Given the description of an element on the screen output the (x, y) to click on. 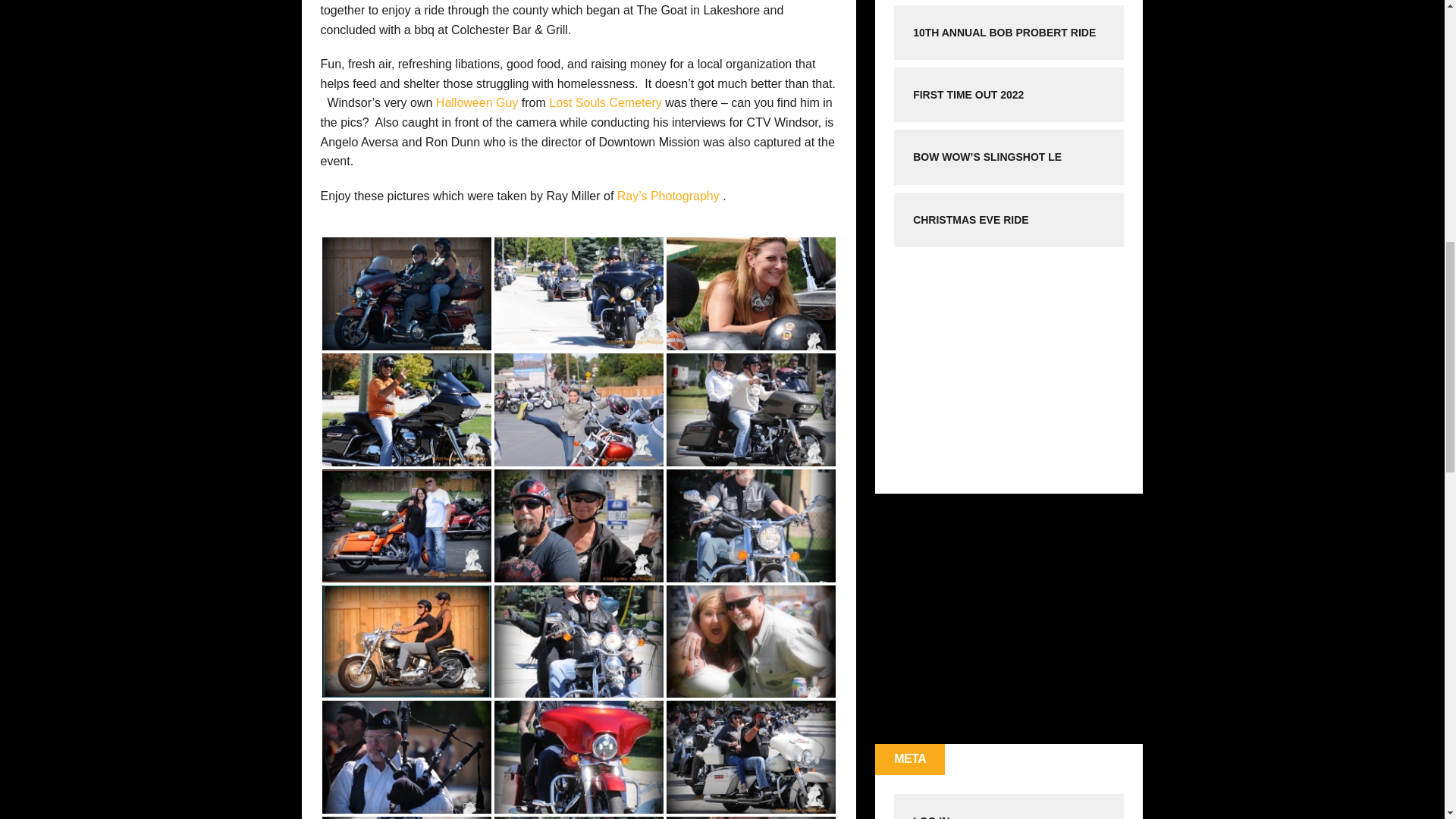
2020-Ride-24 (405, 293)
